Given the description of an element on the screen output the (x, y) to click on. 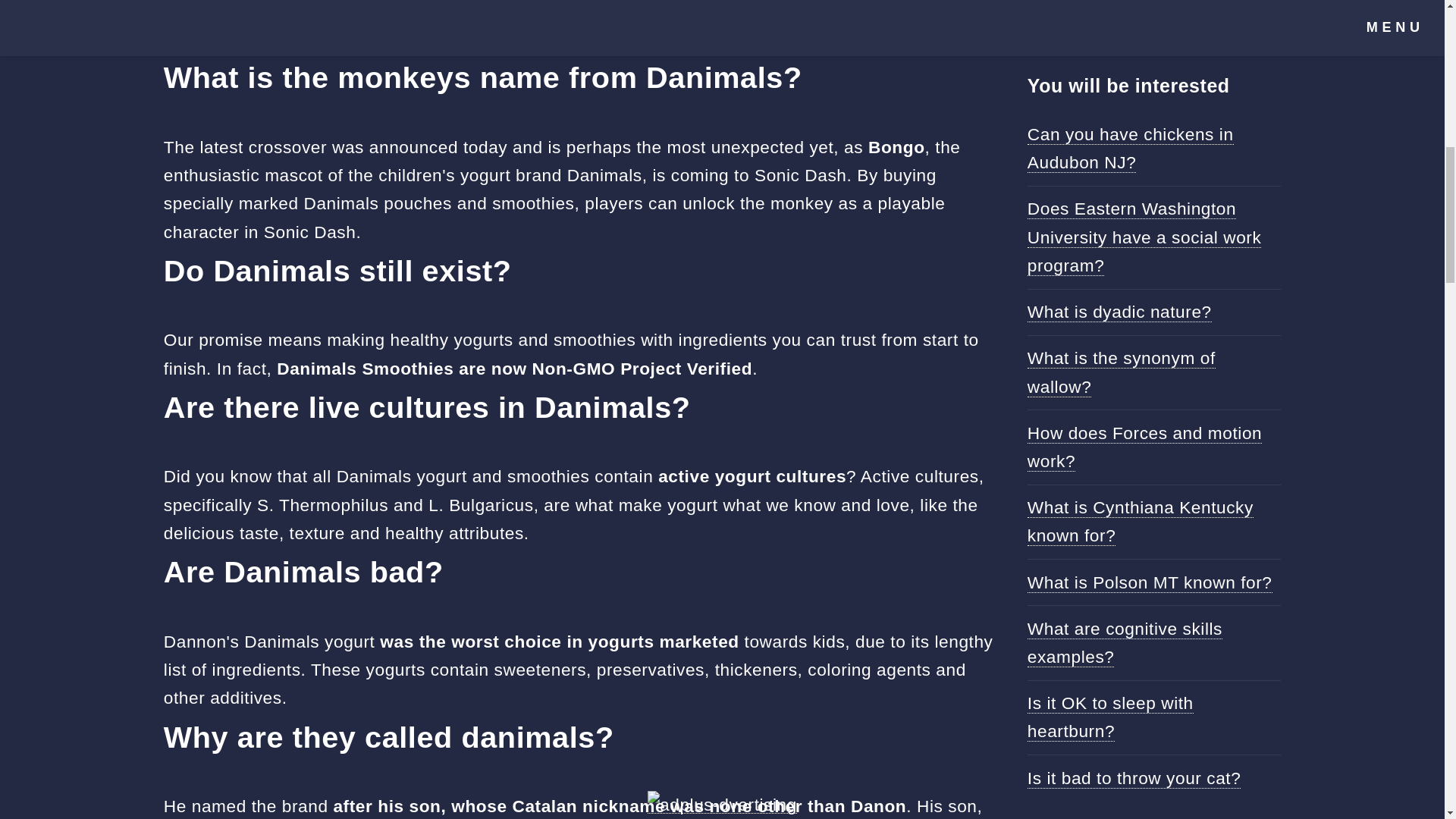
How does Forces and motion work? (1144, 447)
What is the synonym of wallow? (1121, 372)
What is a person's routine? (1136, 13)
What is dyadic nature? (1119, 312)
Can you have chickens in Audubon NJ? (1130, 148)
What is Cynthiana Kentucky known for? (1140, 521)
Can I give my 6 month old Greek yogurt? (354, 7)
